Given the description of an element on the screen output the (x, y) to click on. 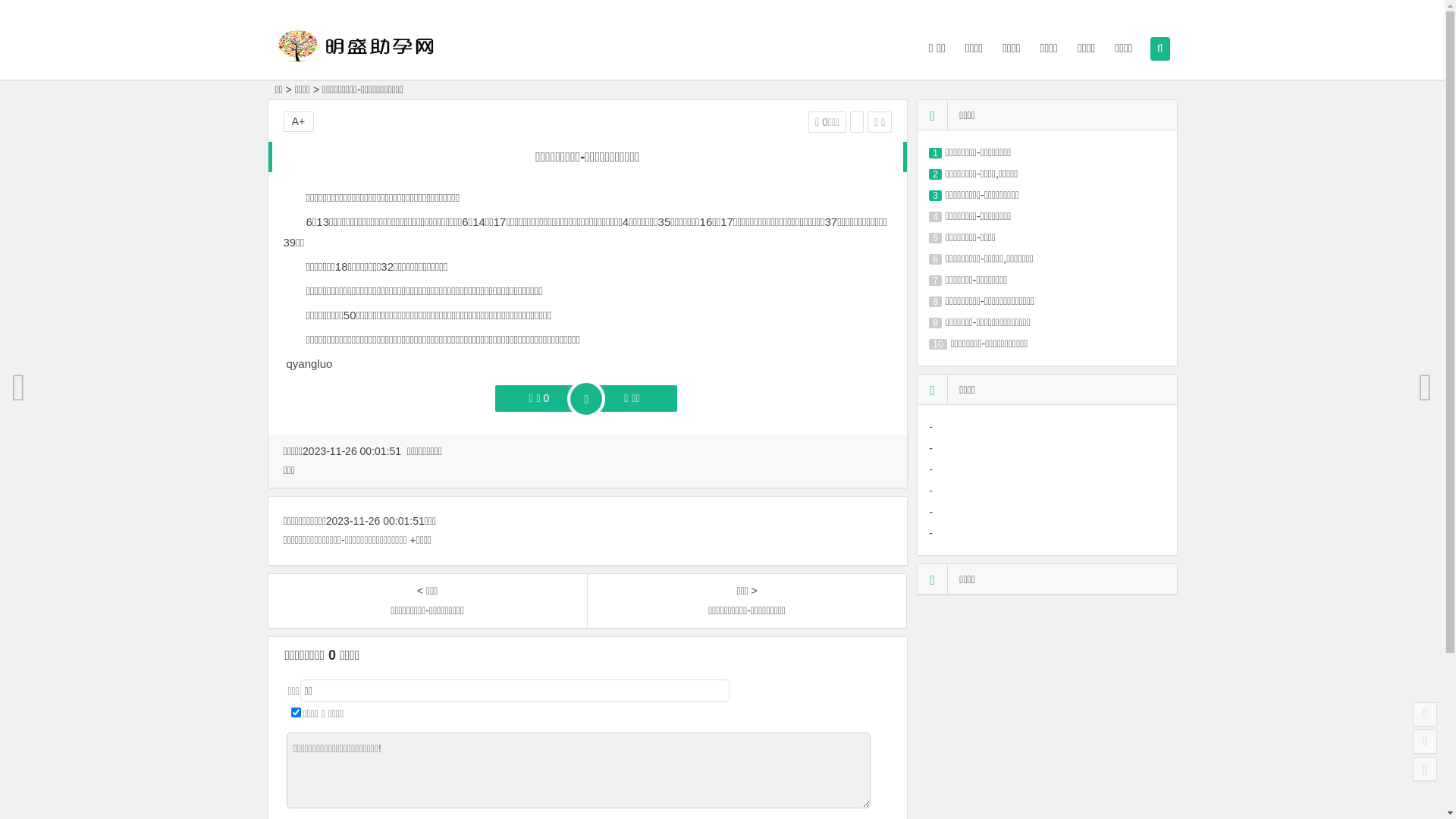
- Element type: text (930, 426)
- Element type: text (930, 490)
- Element type: text (930, 448)
- Element type: text (930, 533)
- Element type: text (930, 469)
- Element type: text (930, 511)
